Given the description of an element on the screen output the (x, y) to click on. 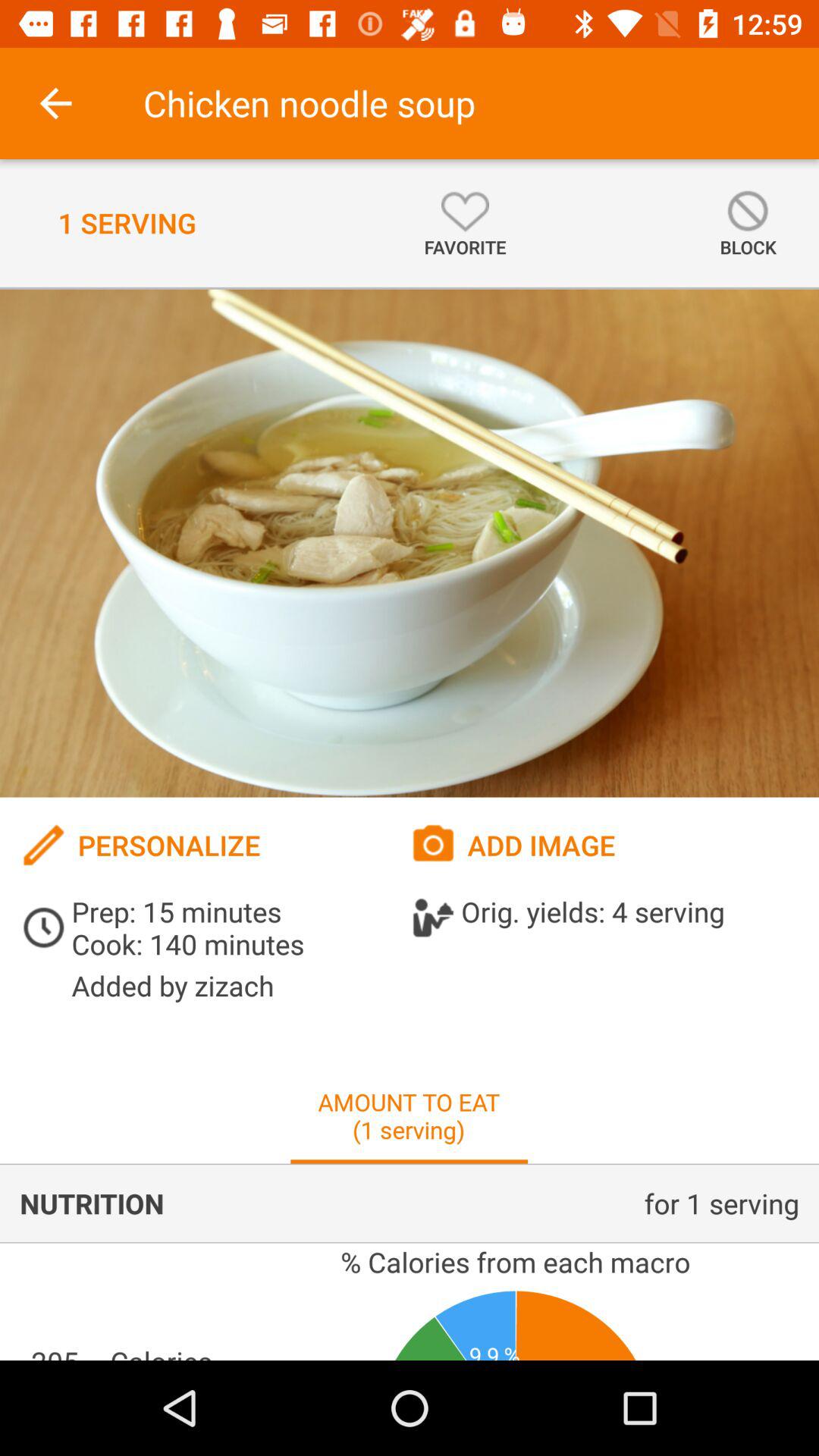
turn on icon at the top right corner (748, 223)
